Given the description of an element on the screen output the (x, y) to click on. 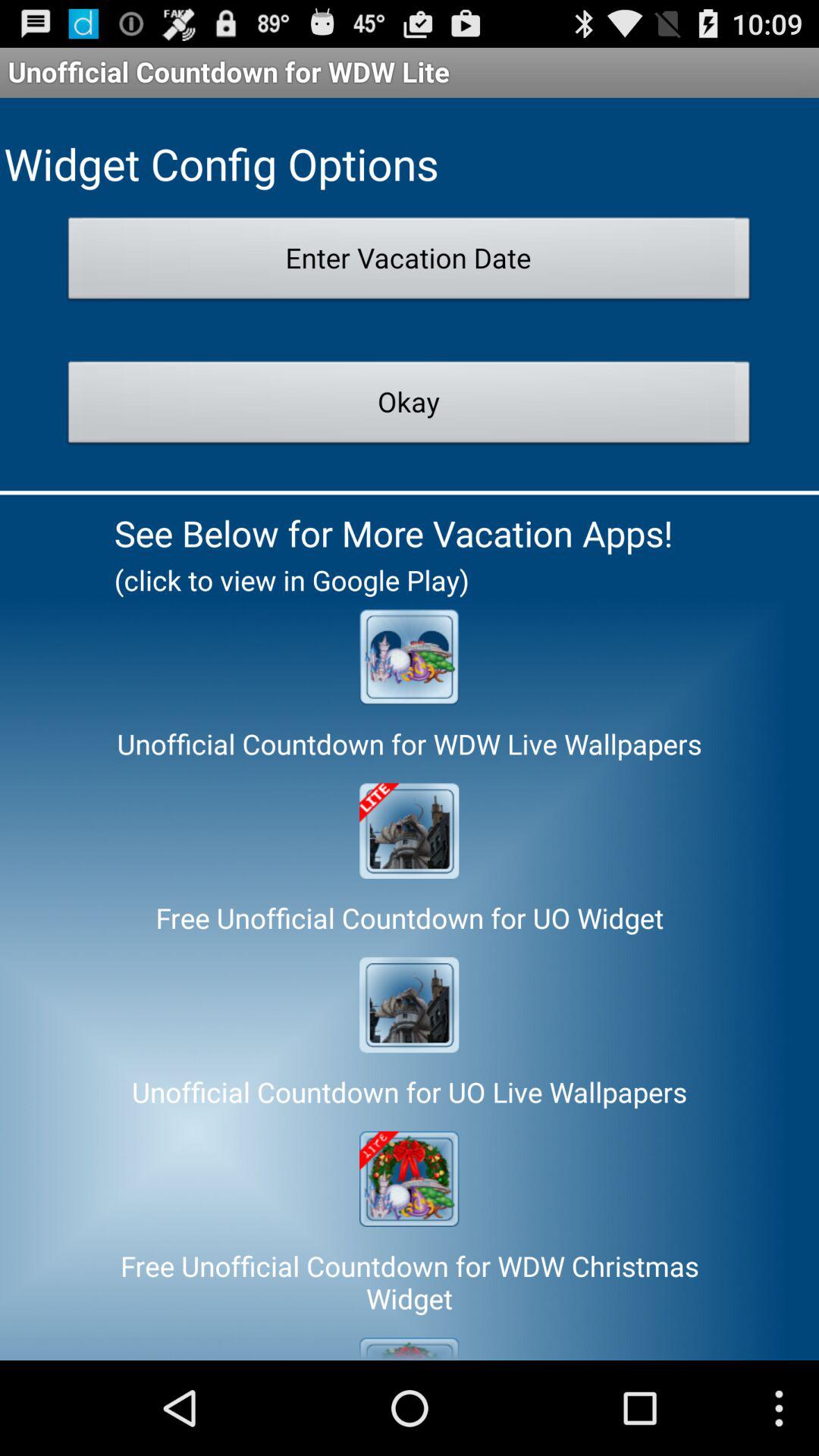
select the button above the okay icon (408, 262)
